Given the description of an element on the screen output the (x, y) to click on. 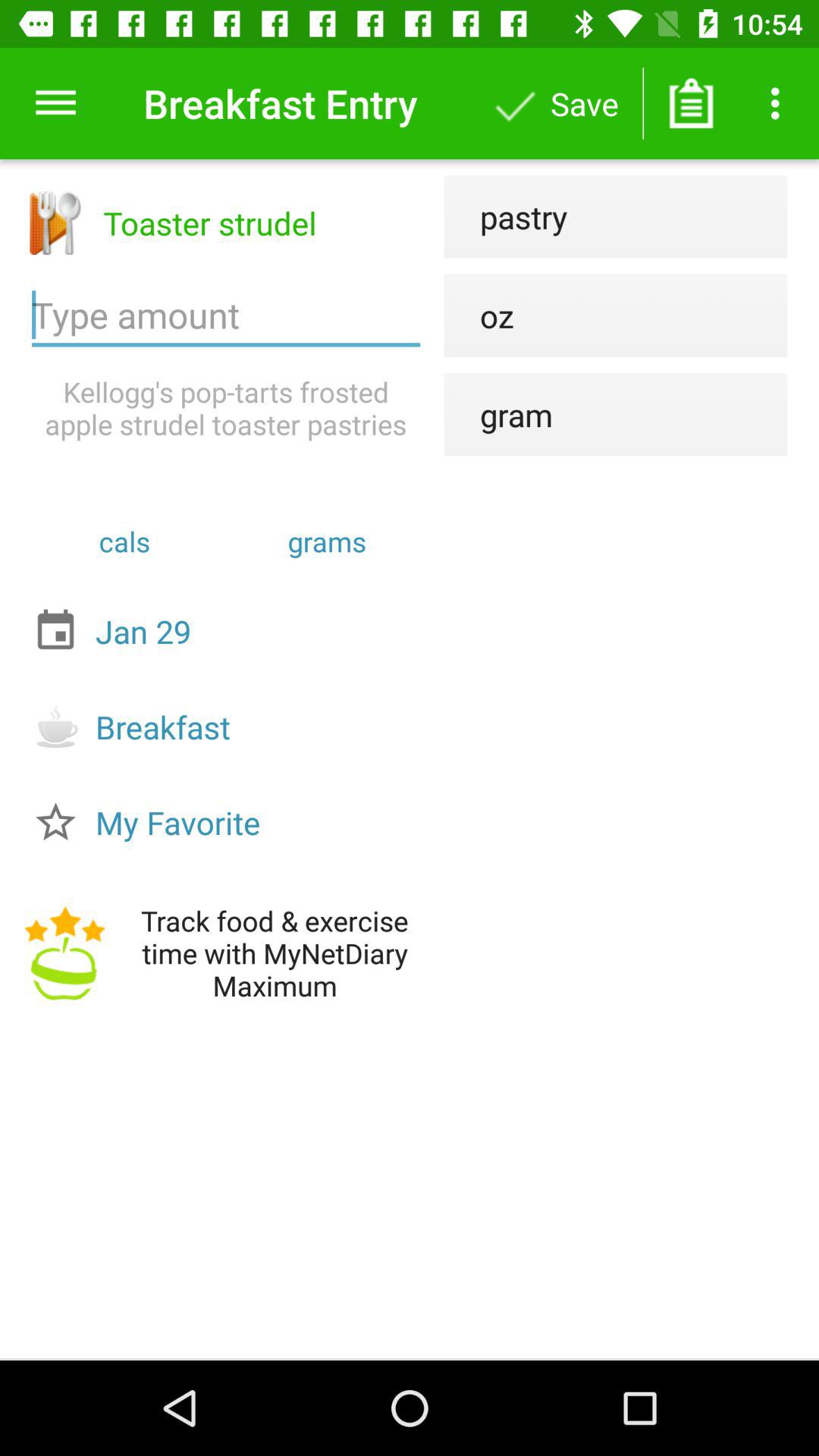
enter the amount (225, 315)
